Given the description of an element on the screen output the (x, y) to click on. 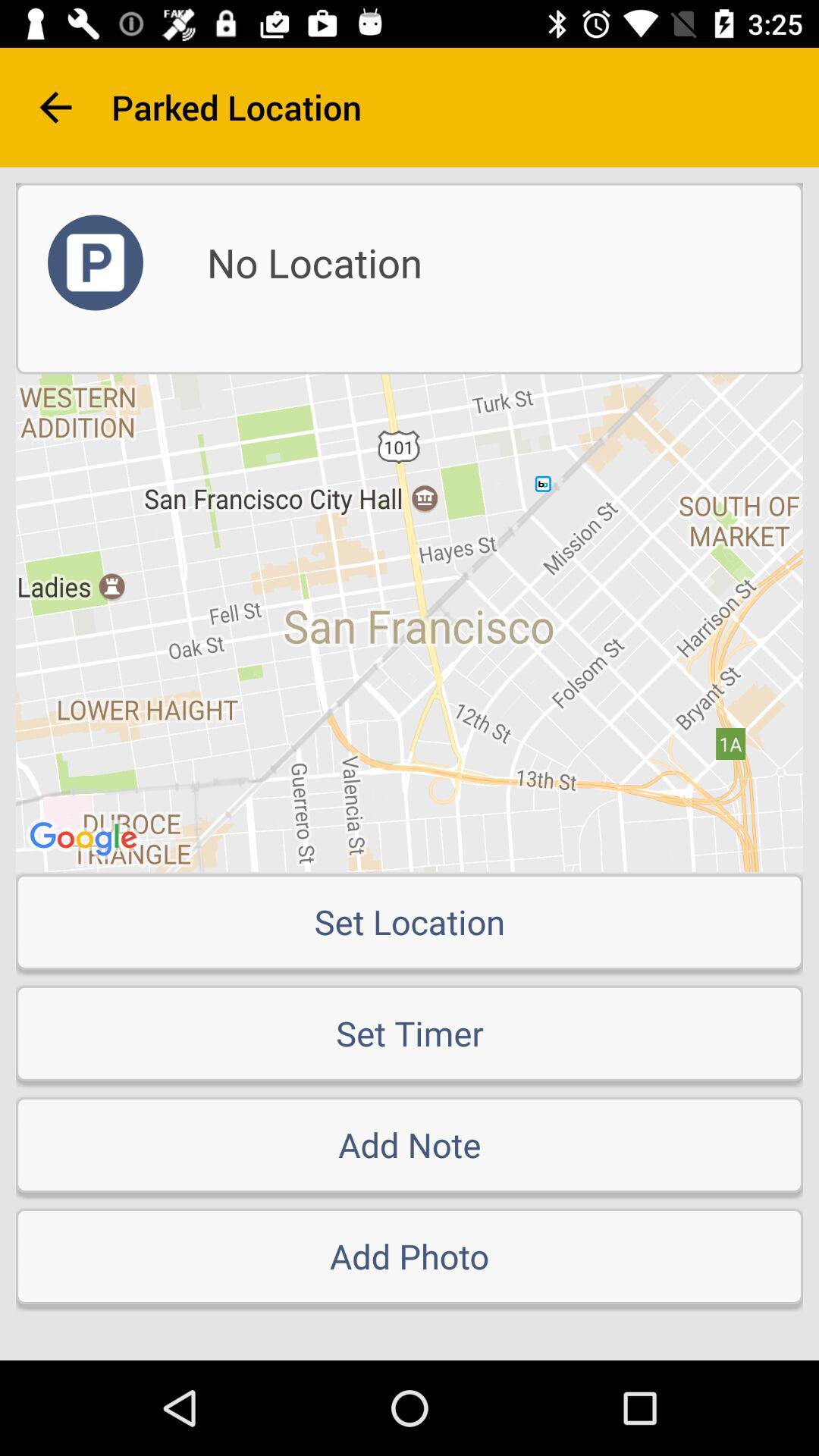
jump until set location (409, 921)
